Given the description of an element on the screen output the (x, y) to click on. 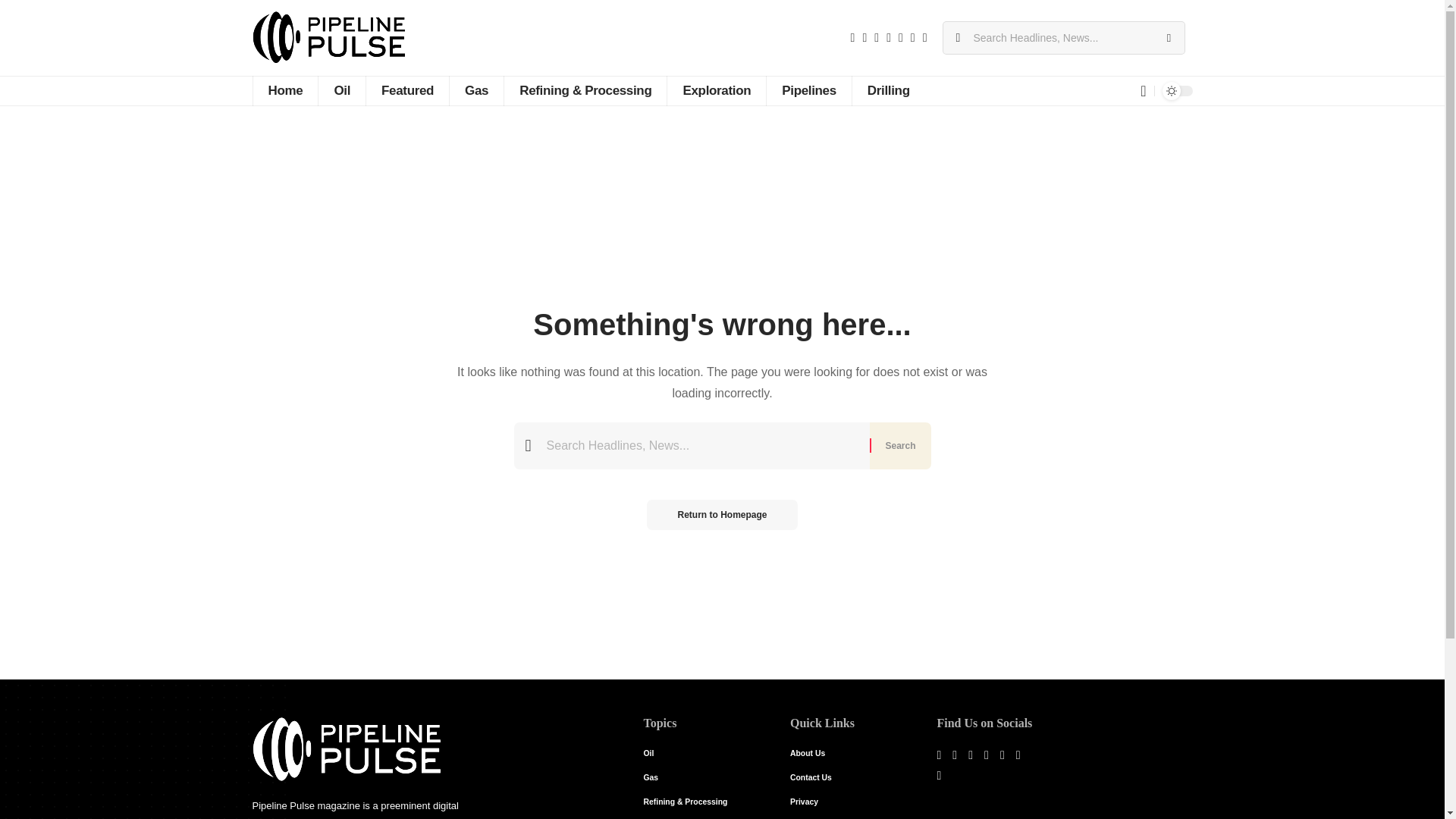
Pipelines (808, 91)
Drilling (887, 91)
Exploration (715, 91)
Pipeline Pulse (328, 37)
Search (899, 445)
Featured (406, 91)
Home (284, 91)
Oil (341, 91)
Search (1168, 37)
Gas (475, 91)
